Given the description of an element on the screen output the (x, y) to click on. 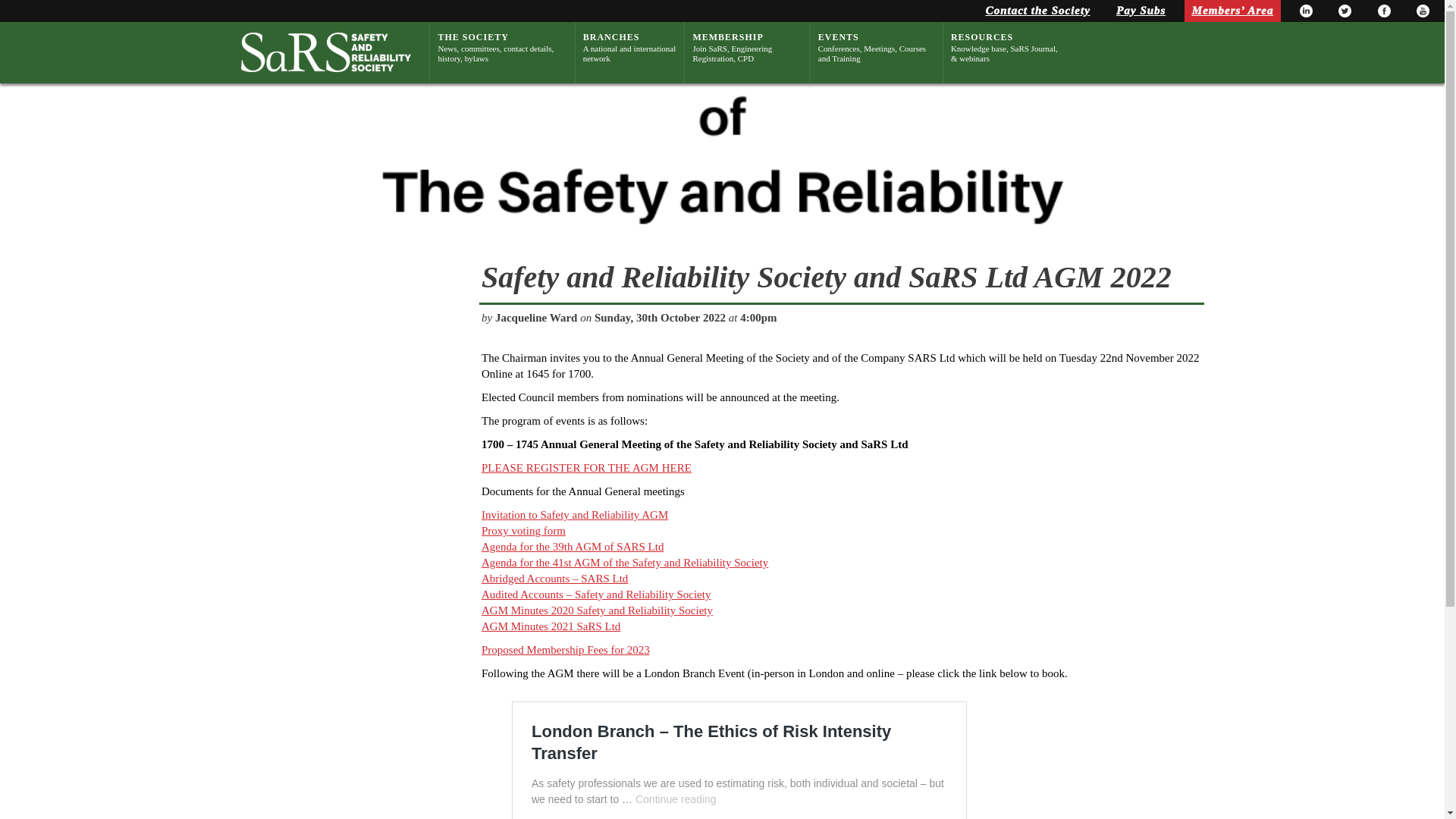
Facebook (1383, 10)
Twitter (1344, 10)
LinkedIn (1306, 10)
YouTube (747, 47)
Contact the Society (1422, 10)
Pay Subs (1037, 10)
